Given the description of an element on the screen output the (x, y) to click on. 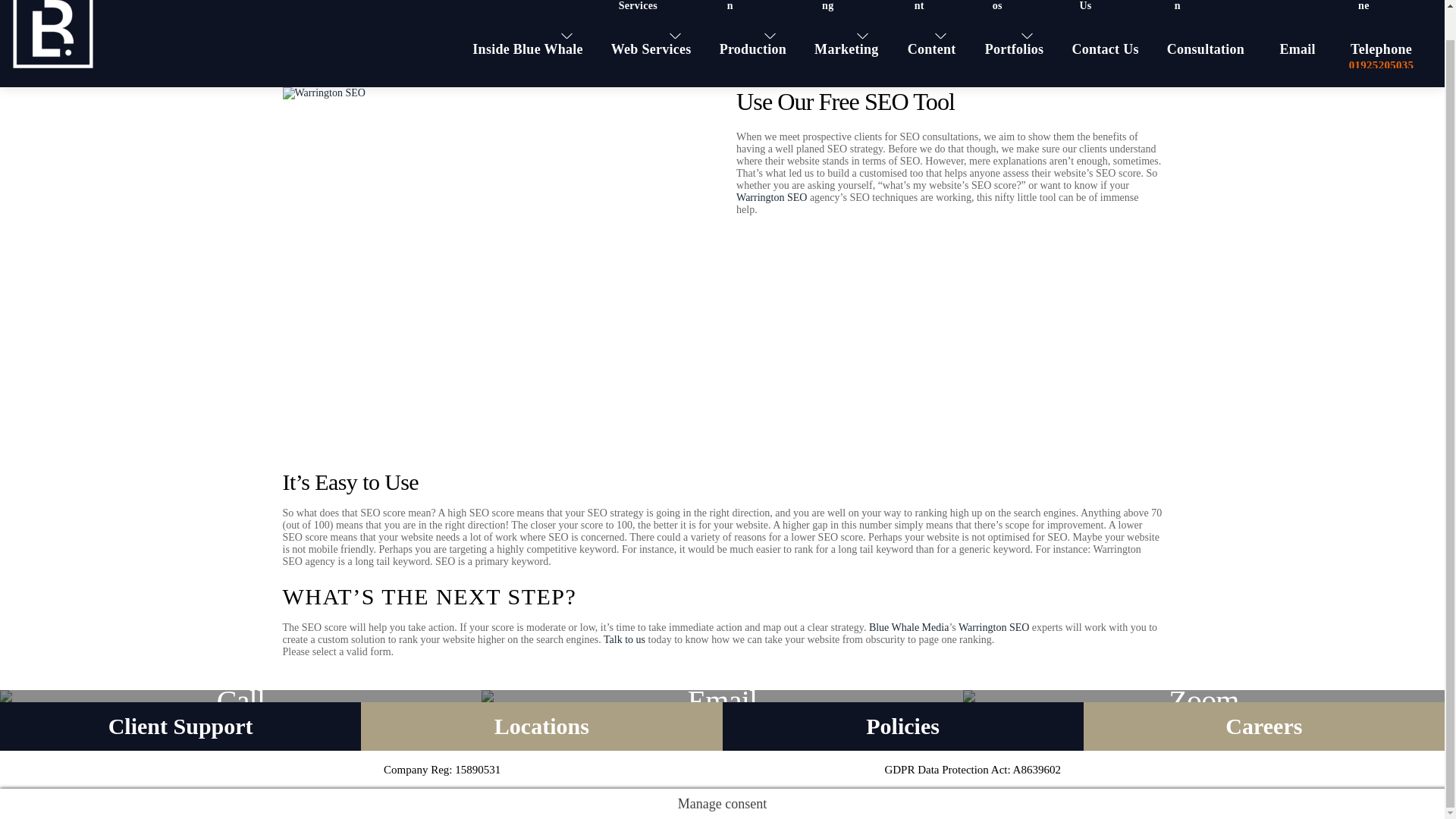
Email (721, 695)
Call (240, 695)
Blue Whale Media logo (53, 36)
